Given the description of an element on the screen output the (x, y) to click on. 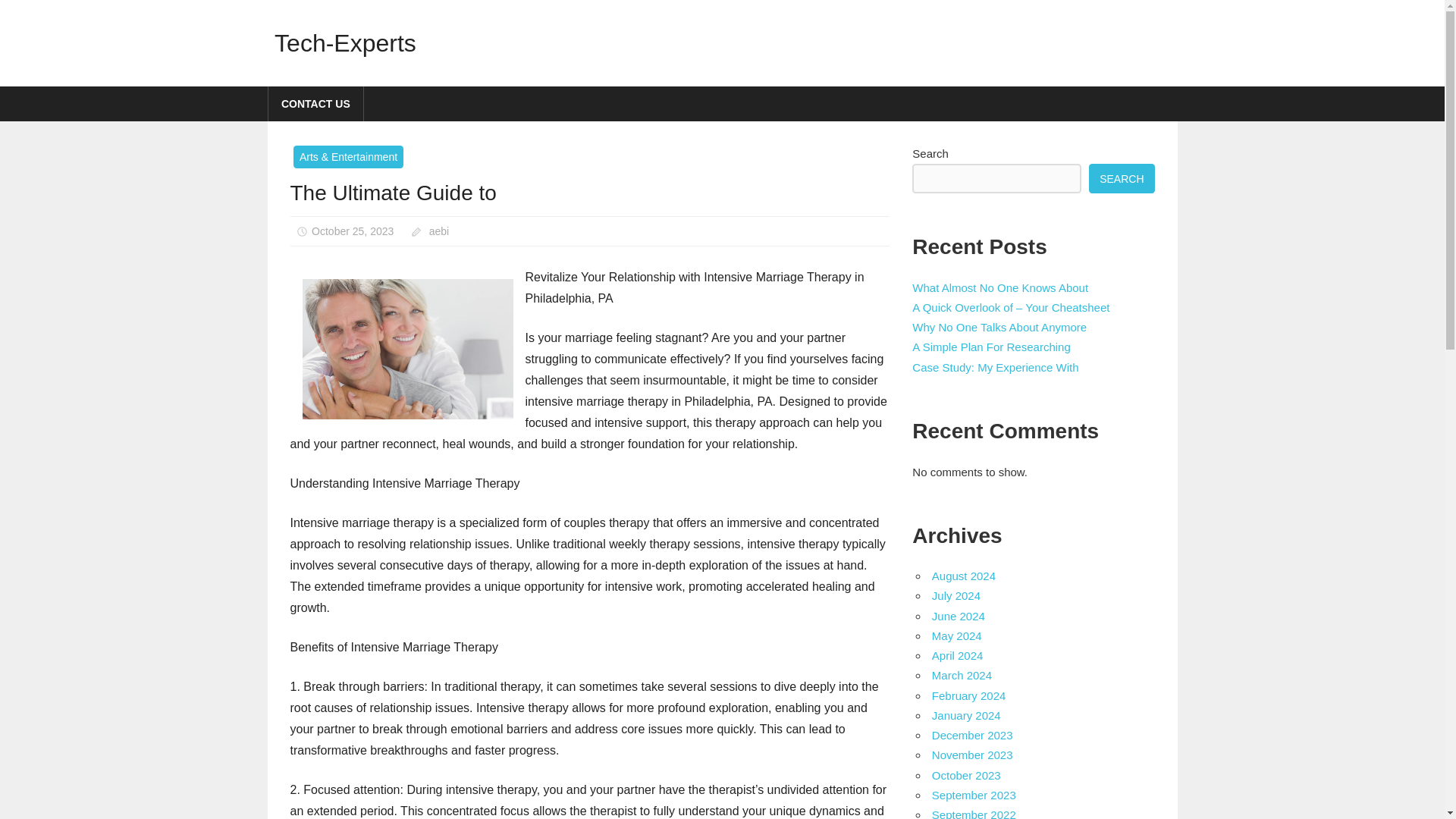
October 2023 (966, 775)
April 2024 (957, 655)
January 2024 (966, 715)
aebi (438, 231)
February 2024 (968, 695)
June 2024 (958, 615)
October 25, 2023 (352, 231)
5:47 am (352, 231)
View all posts by aebi (438, 231)
March 2024 (961, 675)
